Given the description of an element on the screen output the (x, y) to click on. 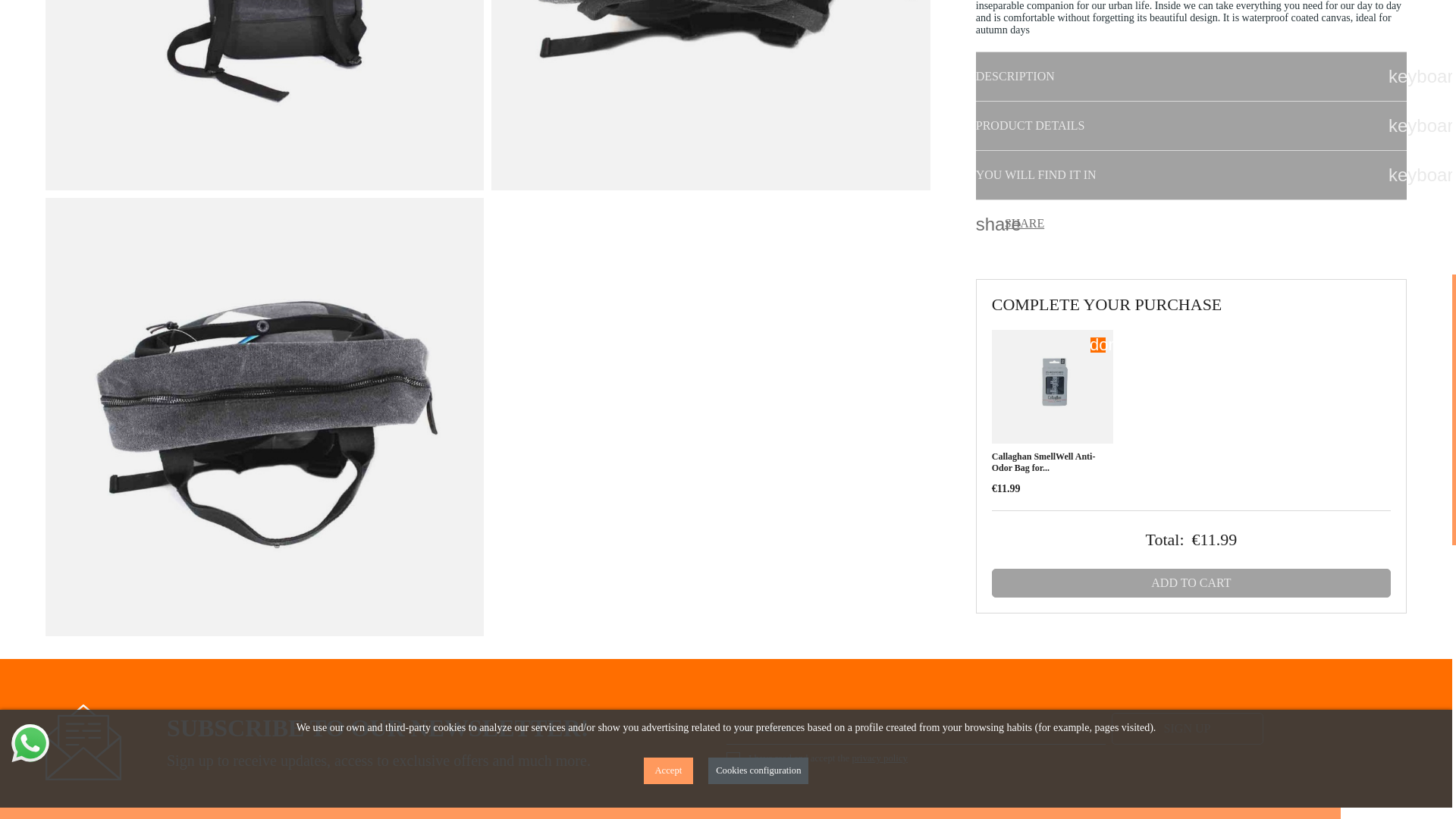
Sign up (1187, 728)
Ucon Acrobatics Crow Ison 15" Backpack (711, 94)
Ucon Acrobatics Crow Ison 15" Backpack (264, 94)
